Given the description of an element on the screen output the (x, y) to click on. 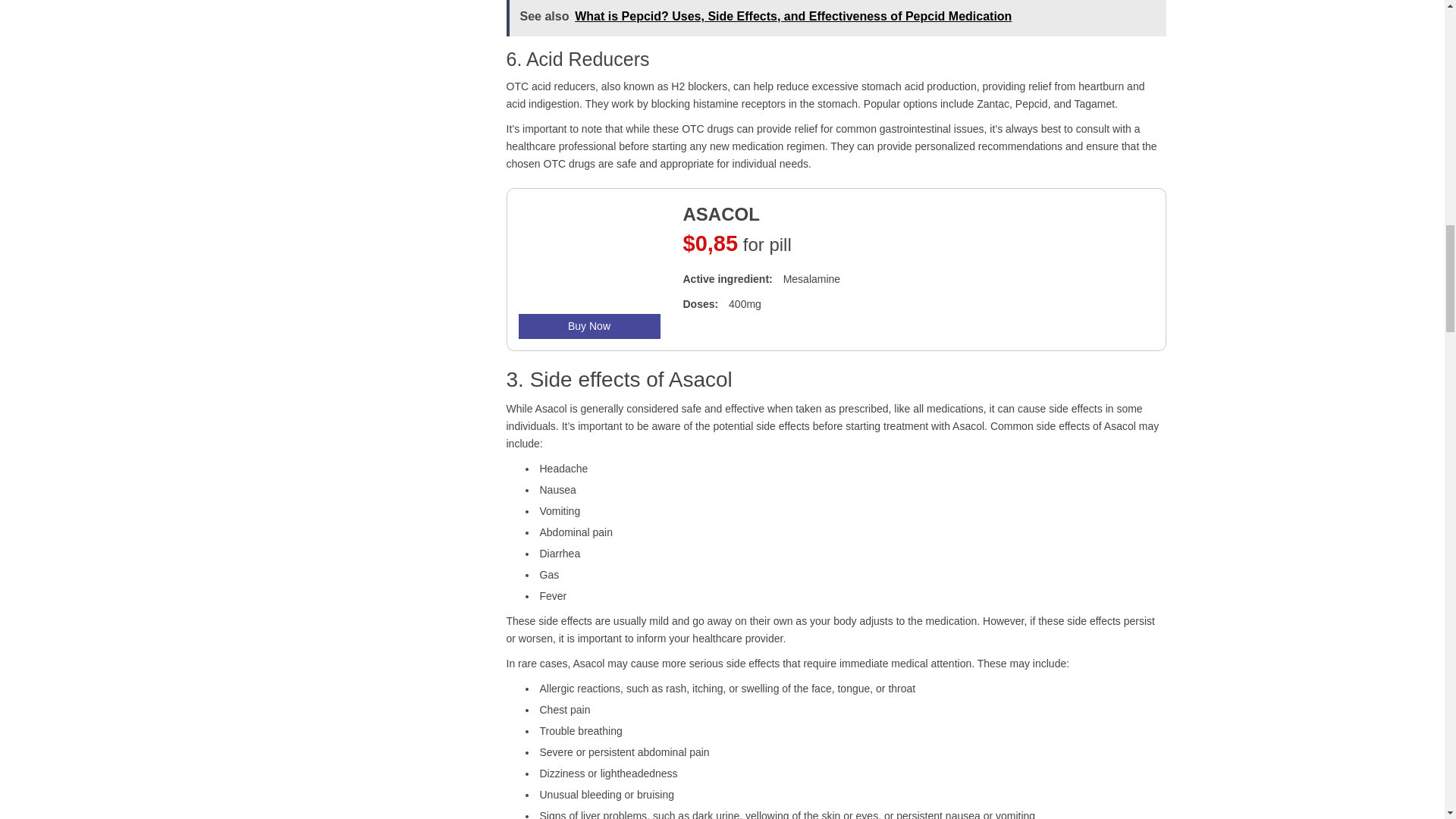
Buy Now (589, 326)
Buy Now (589, 326)
